Given the description of an element on the screen output the (x, y) to click on. 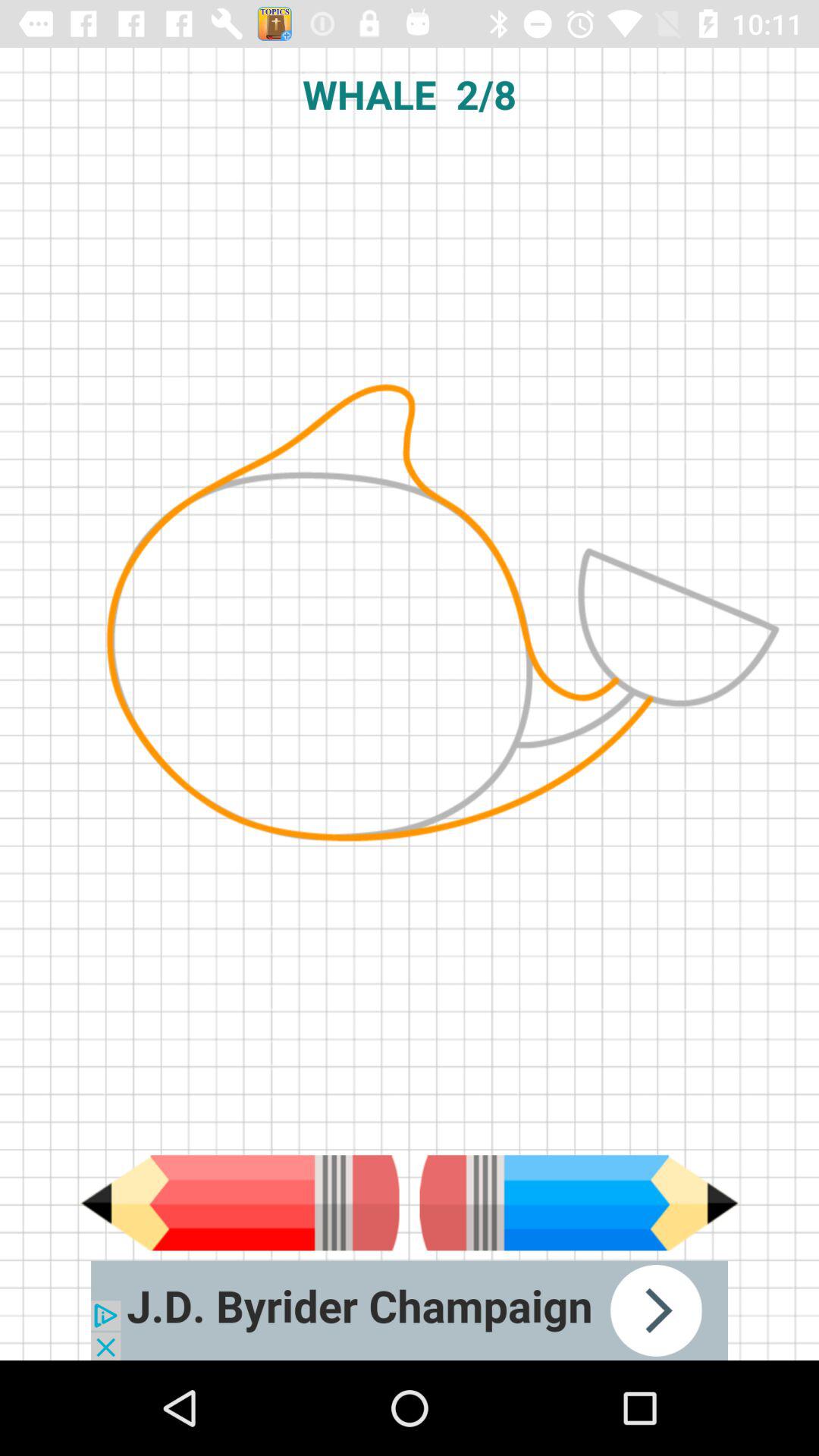
change color (578, 1202)
